Given the description of an element on the screen output the (x, y) to click on. 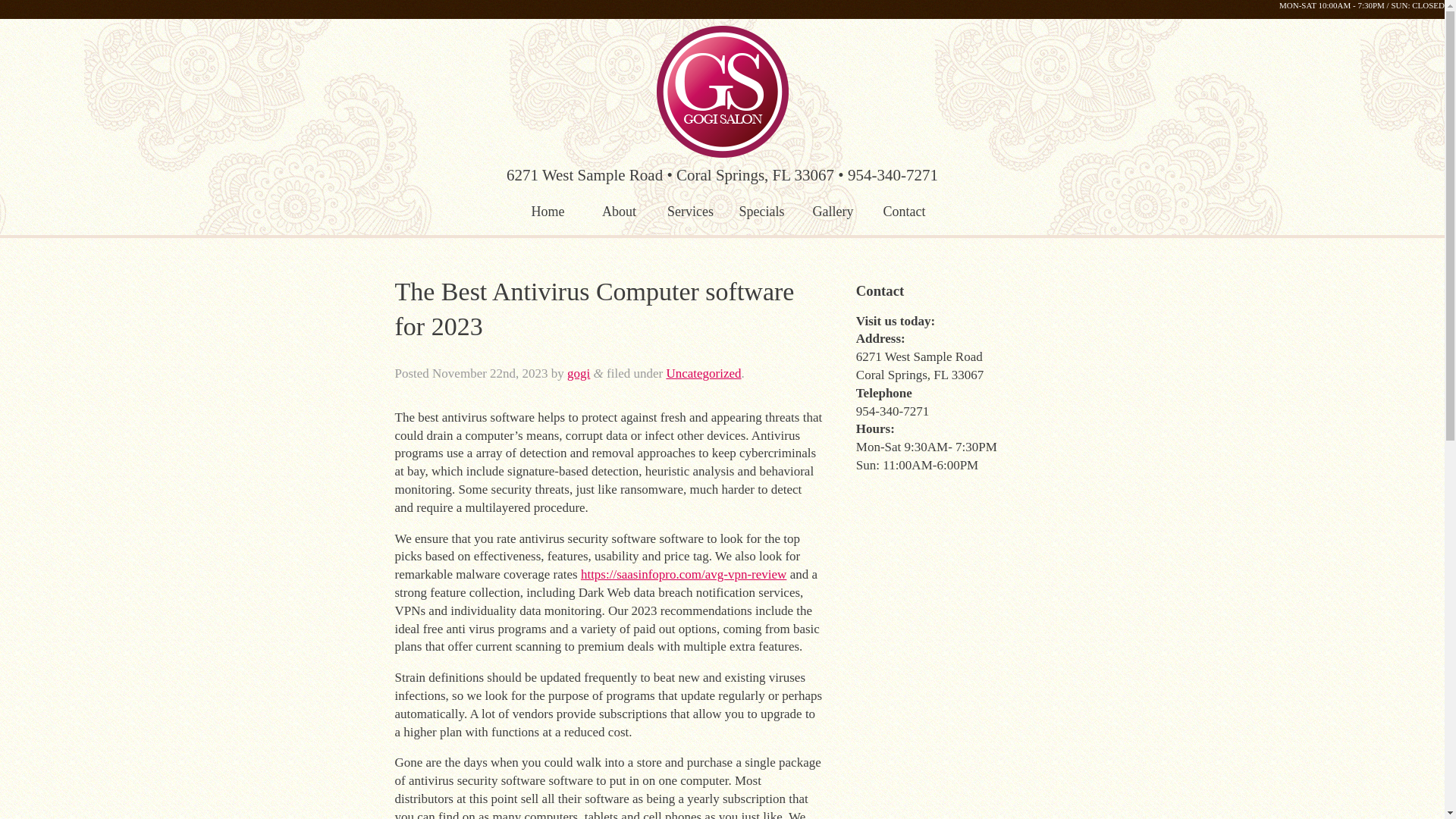
Gogi Salon (721, 91)
About (619, 212)
Services (690, 212)
Posts by gogi (578, 373)
Home (547, 212)
Specials (762, 212)
Contact (904, 212)
Uncategorized (703, 373)
Gallery (833, 212)
gogi (578, 373)
